Given the description of an element on the screen output the (x, y) to click on. 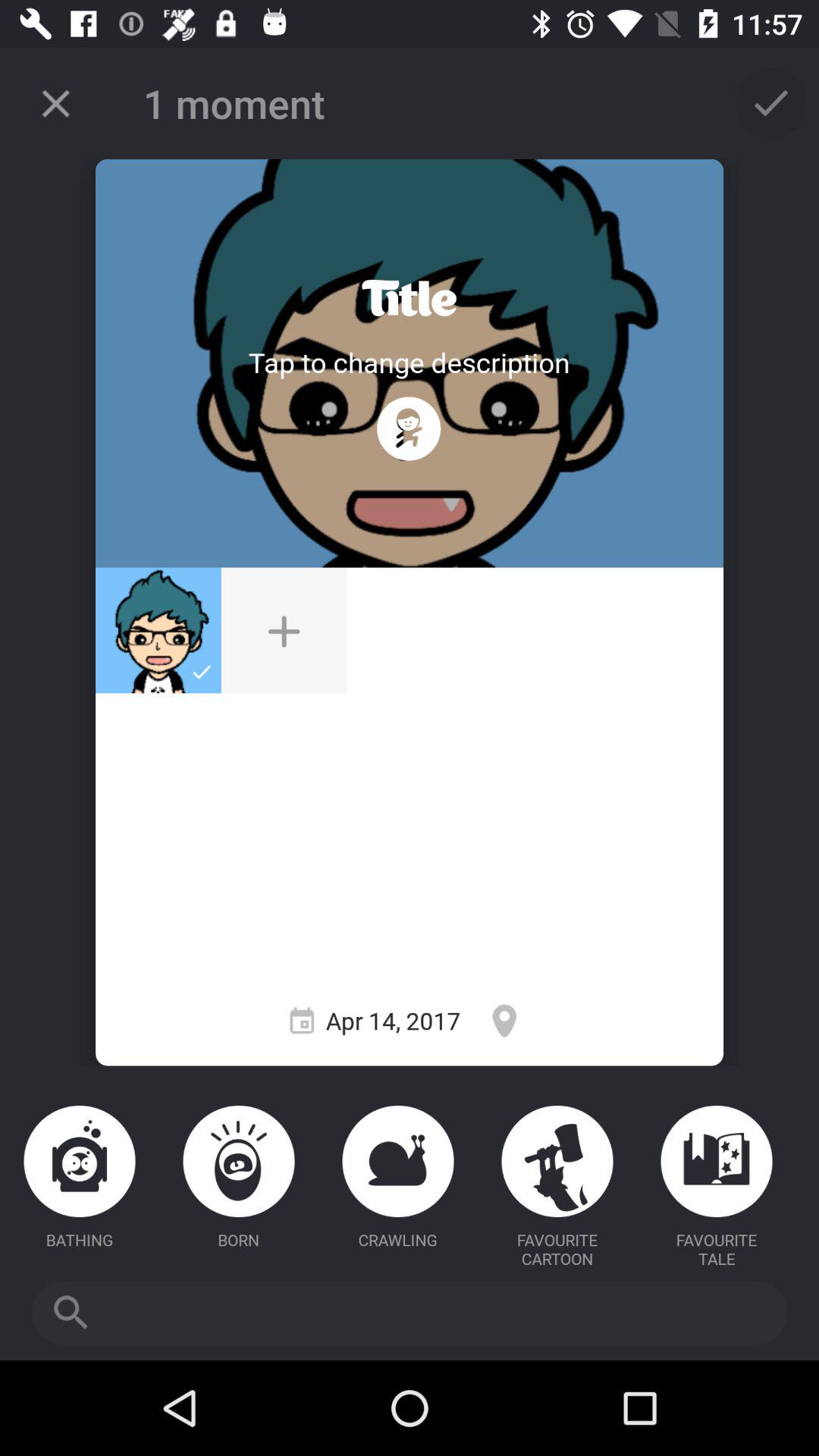
change current description (408, 362)
